Given the description of an element on the screen output the (x, y) to click on. 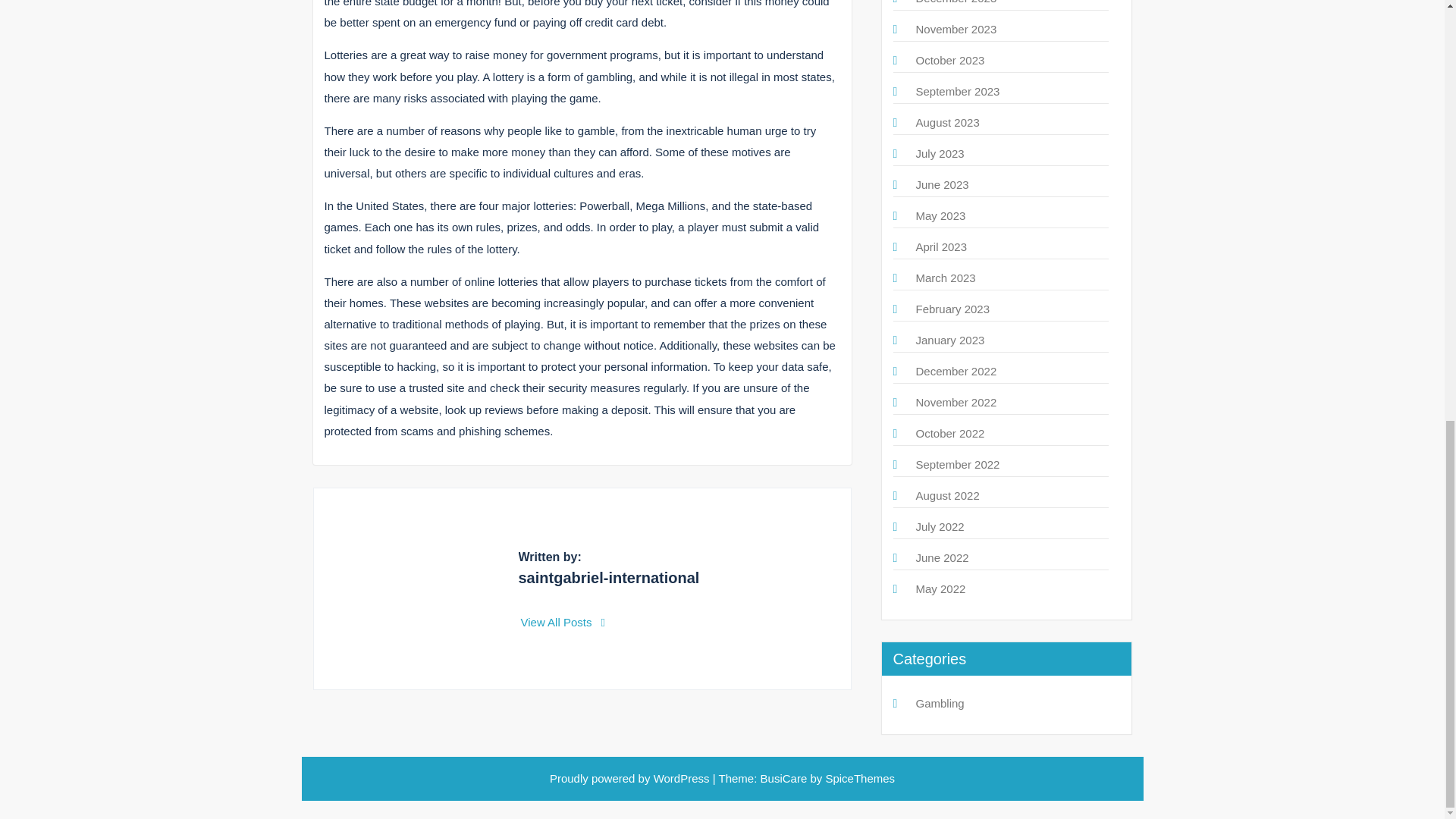
June 2023 (942, 184)
February 2023 (952, 308)
July 2023 (939, 153)
August 2022 (947, 495)
November 2022 (956, 401)
April 2023 (941, 246)
November 2023 (956, 29)
March 2023 (945, 277)
May 2022 (940, 588)
May 2023 (940, 215)
October 2022 (950, 432)
October 2023 (950, 60)
January 2023 (950, 339)
December 2023 (956, 2)
December 2022 (956, 370)
